Given the description of an element on the screen output the (x, y) to click on. 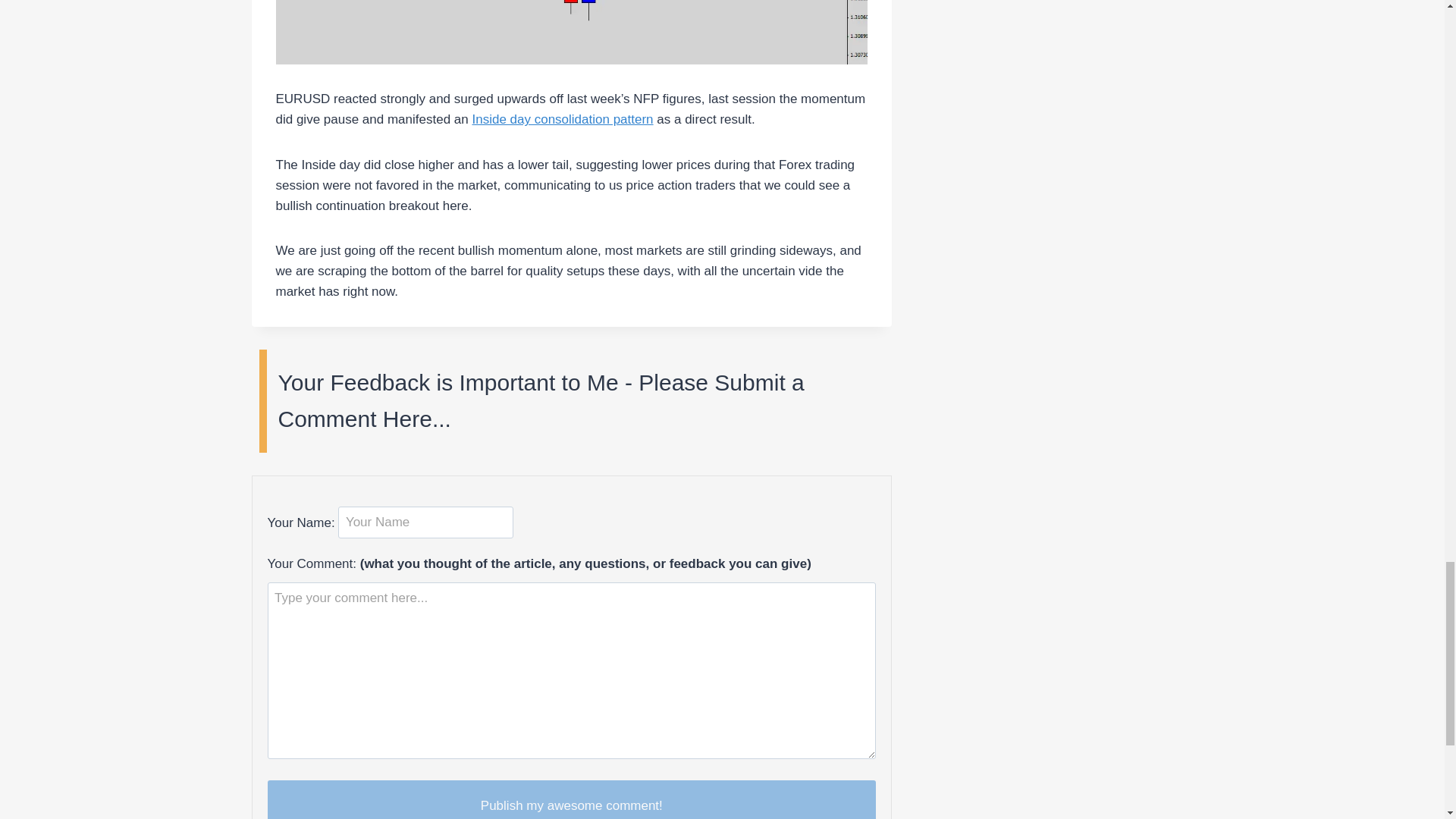
Inside day consolidation pattern (561, 119)
Publish my awesome comment! (571, 799)
Publish my awesome comment! (571, 799)
